Given the description of an element on the screen output the (x, y) to click on. 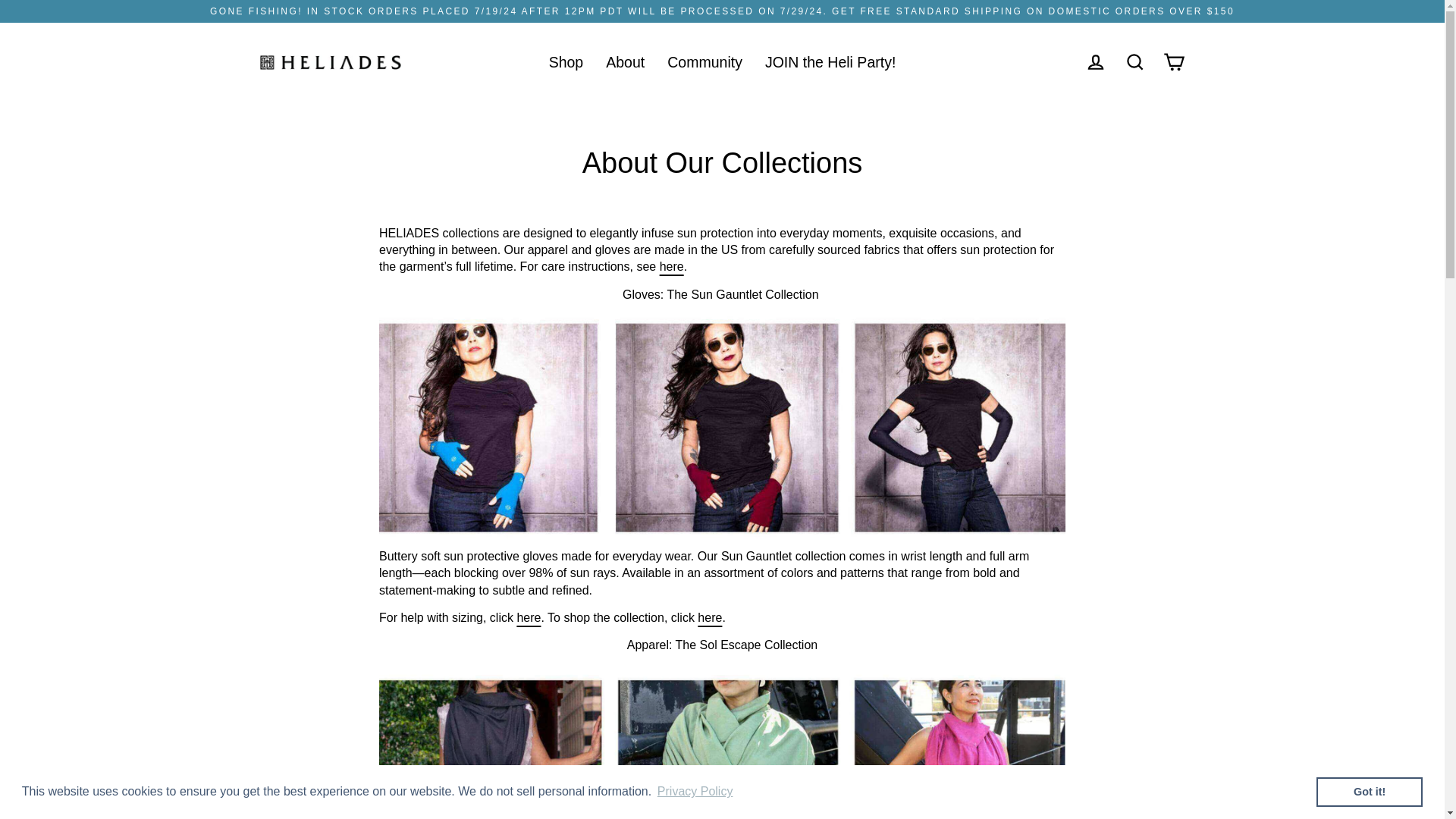
Got it! (1369, 791)
Privacy Policy (695, 791)
Learn More (688, 791)
